Given the description of an element on the screen output the (x, y) to click on. 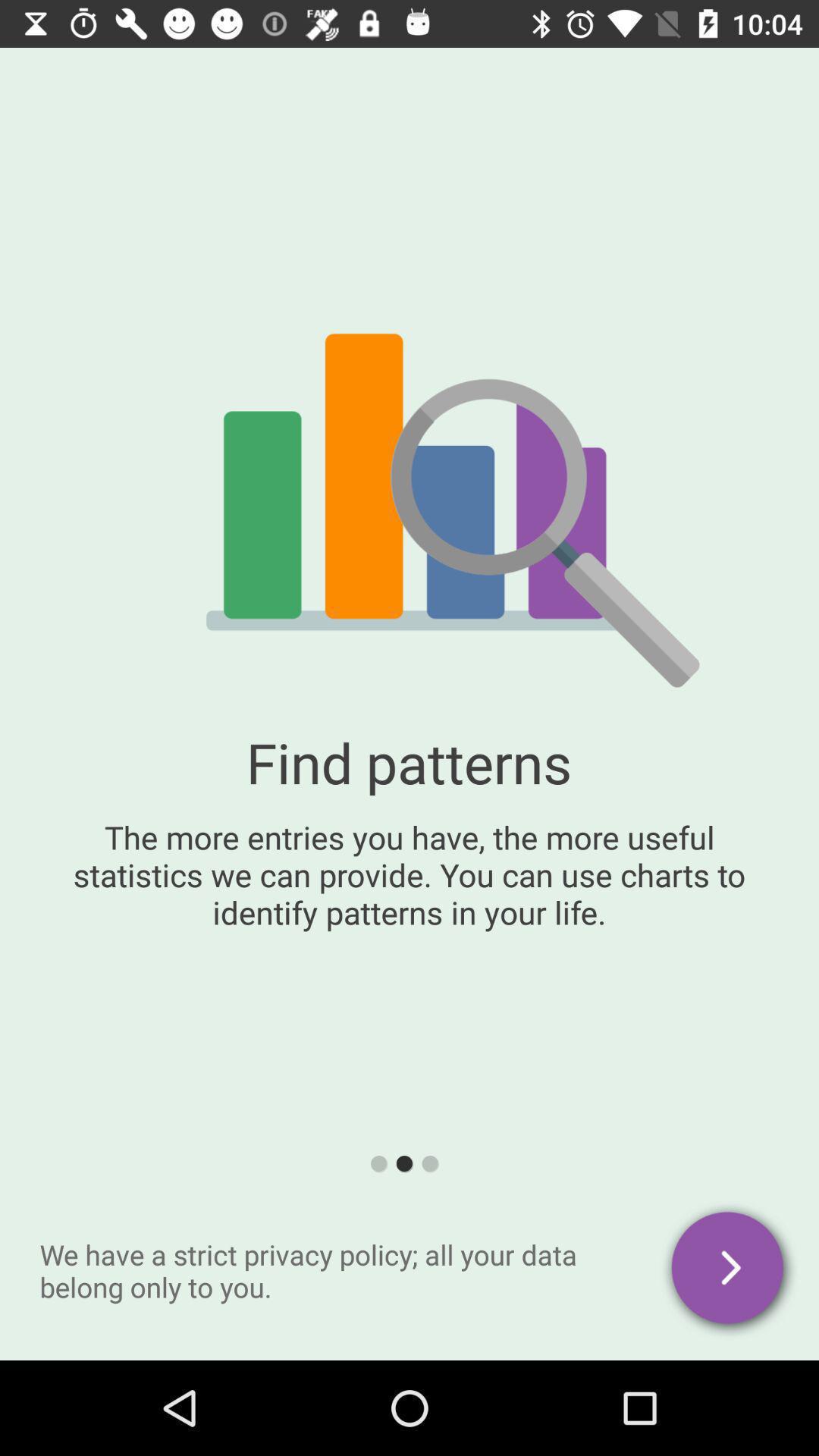
tap the item at the bottom right corner (729, 1270)
